Given the description of an element on the screen output the (x, y) to click on. 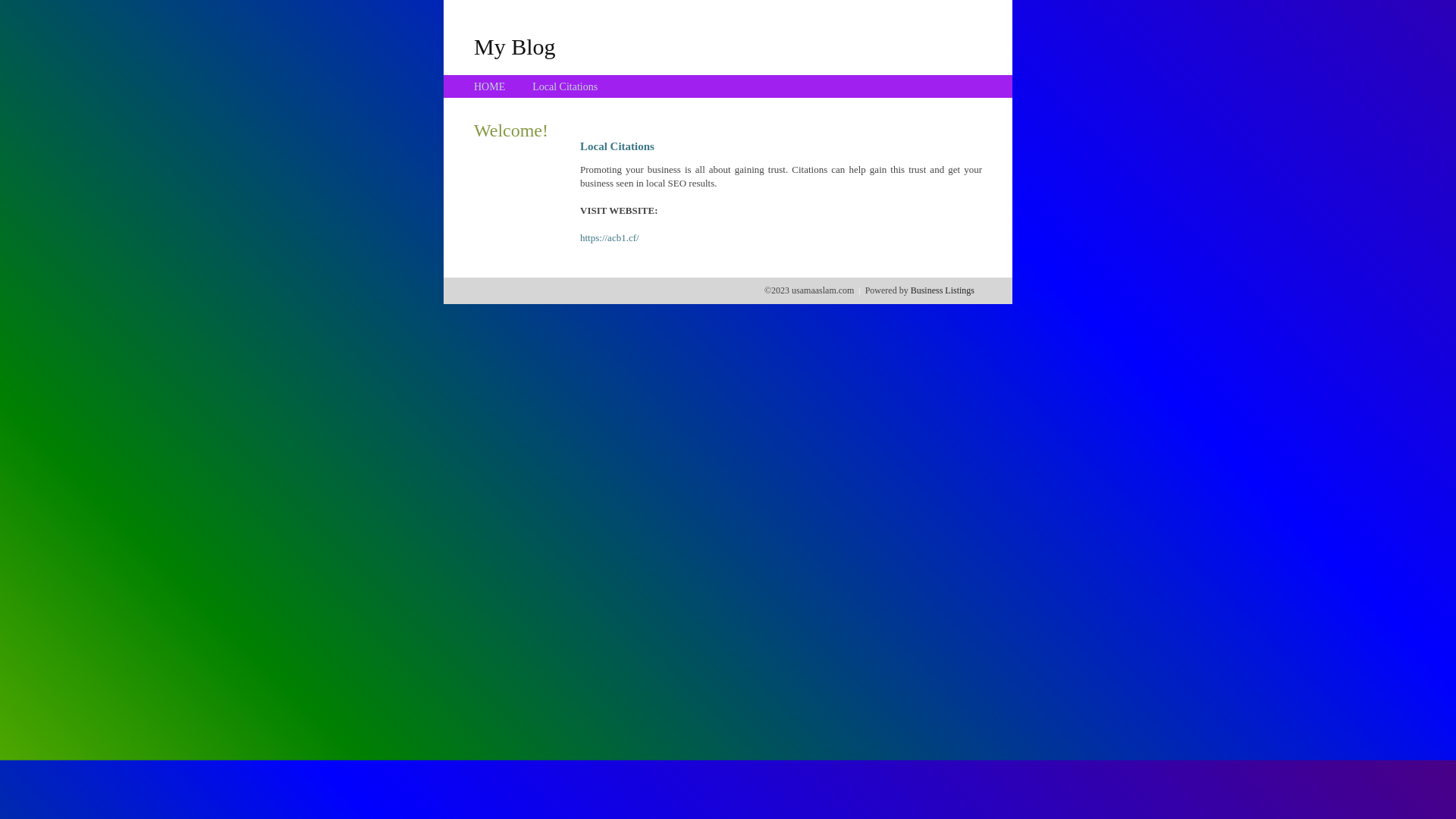
My Blog Element type: text (514, 46)
HOME Element type: text (489, 86)
Business Listings Element type: text (942, 290)
Local Citations Element type: text (564, 86)
https://acb1.cf/ Element type: text (609, 237)
